Given the description of an element on the screen output the (x, y) to click on. 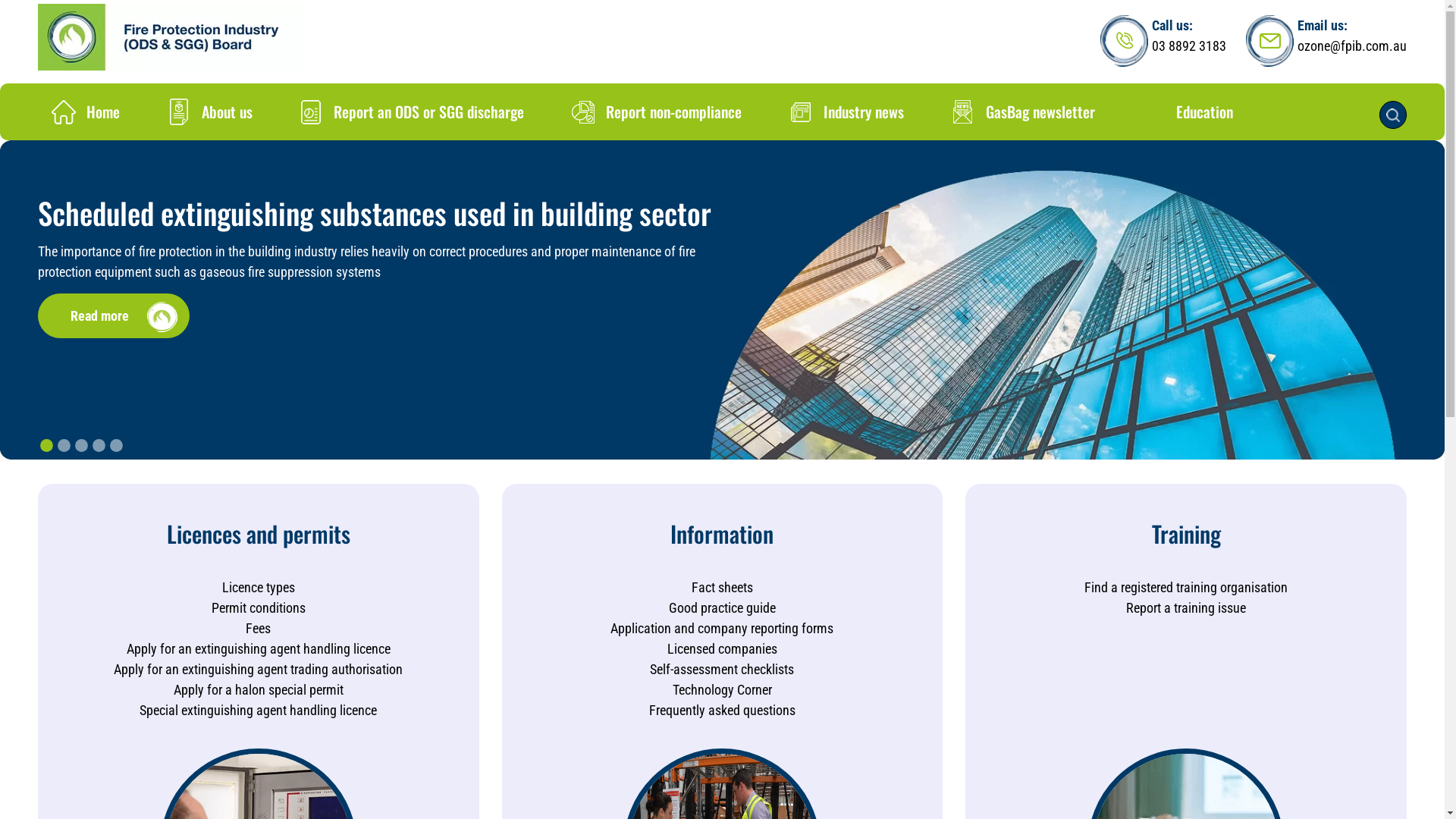
Education Element type: text (1189, 111)
GasBag newsletter Element type: text (1025, 111)
03 8892 3183 Element type: text (1188, 45)
Fact sheets Element type: text (722, 587)
Home Element type: text (87, 111)
Information Element type: text (721, 533)
Permit conditions Element type: text (258, 607)
About us Element type: text (211, 111)
Apply for a halon special permit Element type: text (258, 689)
Licences and permits Element type: text (258, 533)
Frequently asked questions Element type: text (722, 710)
Search Element type: text (24, 12)
Report non-compliance Element type: text (658, 111)
Training Element type: text (1185, 533)
Licence types Element type: text (258, 587)
Apply for an extinguishing agent trading authorisation Element type: text (257, 669)
Industry news Element type: text (848, 111)
Self-assessment checklists Element type: text (721, 669)
Report a training issue Element type: text (1185, 607)
Licensed companies Element type: text (722, 648)
Read more Element type: text (113, 315)
Fees Element type: text (257, 628)
Application and company reporting forms Element type: text (721, 628)
Special extinguishing agent handling licence Element type: text (257, 710)
Report an ODS or SGG discharge Element type: text (413, 111)
Good practice guide Element type: text (721, 607)
Technology Corner Element type: text (721, 689)
Find a registered training organisation Element type: text (1185, 587)
Search for: Element type: hover (1392, 114)
ozone@fpib.com.au Element type: text (1351, 45)
Apply for an extinguishing agent handling licence Element type: text (258, 648)
